Given the description of an element on the screen output the (x, y) to click on. 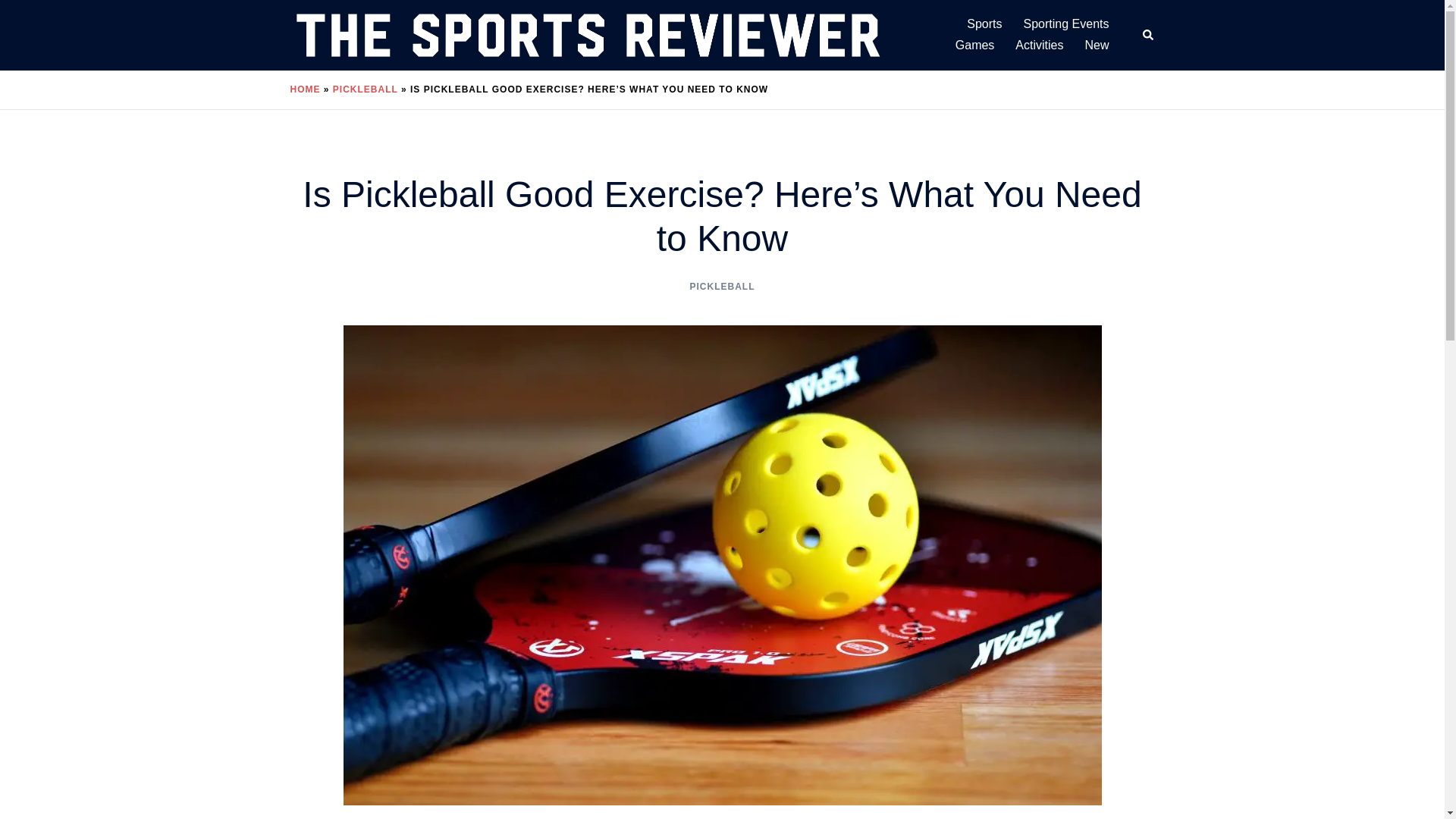
New (1096, 45)
Search (1147, 34)
PICKLEBALL (365, 89)
Activities (1038, 45)
HOME (304, 89)
Games (974, 45)
Sporting Events (1066, 24)
TheSportsReviewer.com (586, 33)
PICKLEBALL (722, 286)
Sports (983, 24)
